Given the description of an element on the screen output the (x, y) to click on. 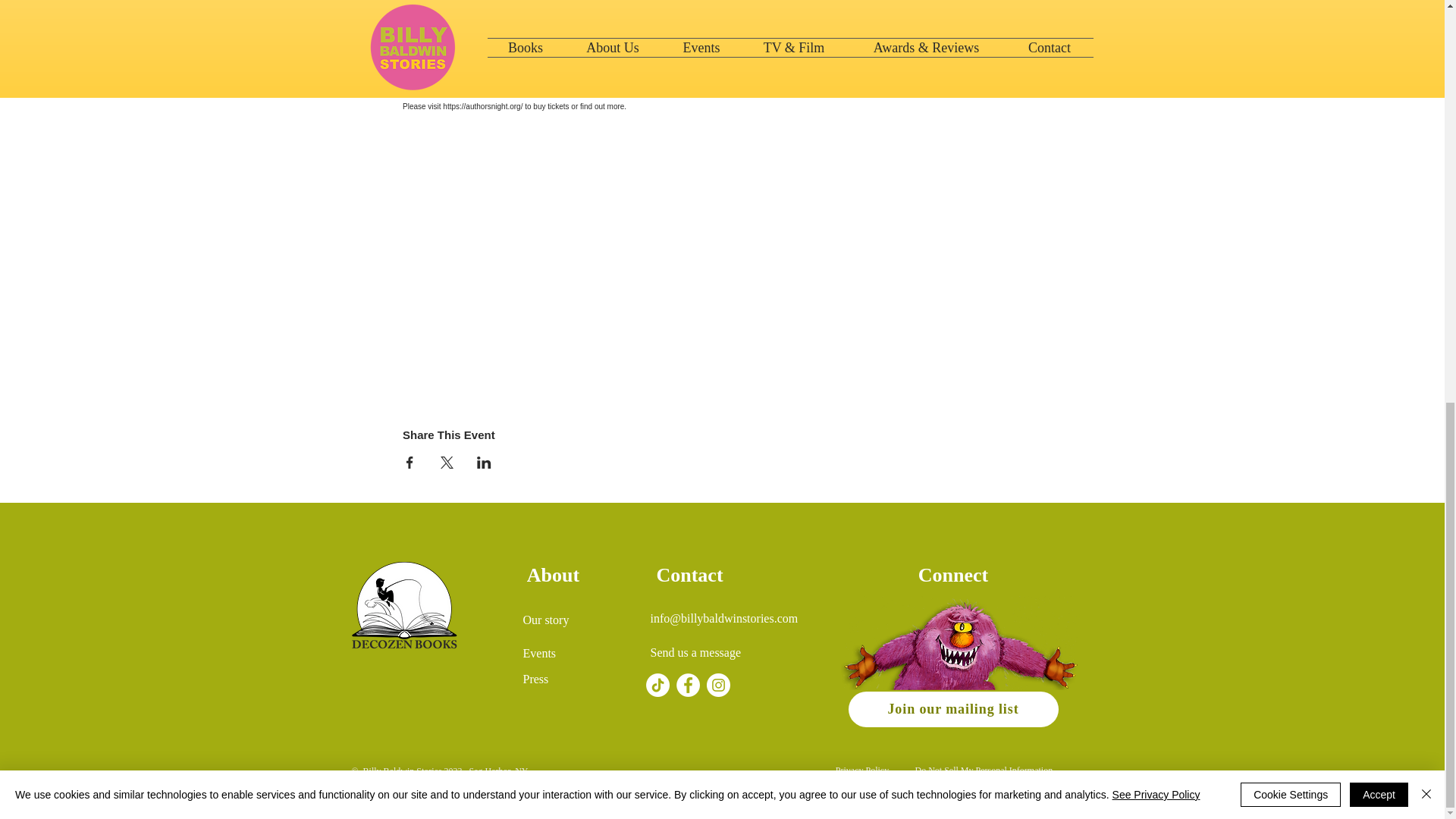
Events (539, 653)
Privacy Policy (861, 769)
Accept (1378, 8)
Our story (545, 619)
Do Not Sell My Personal Information (983, 770)
Press (535, 678)
Cookie Settings (1290, 8)
See Privacy Policy (1155, 5)
Send us a message (695, 652)
Join our mailing list (952, 709)
